Given the description of an element on the screen output the (x, y) to click on. 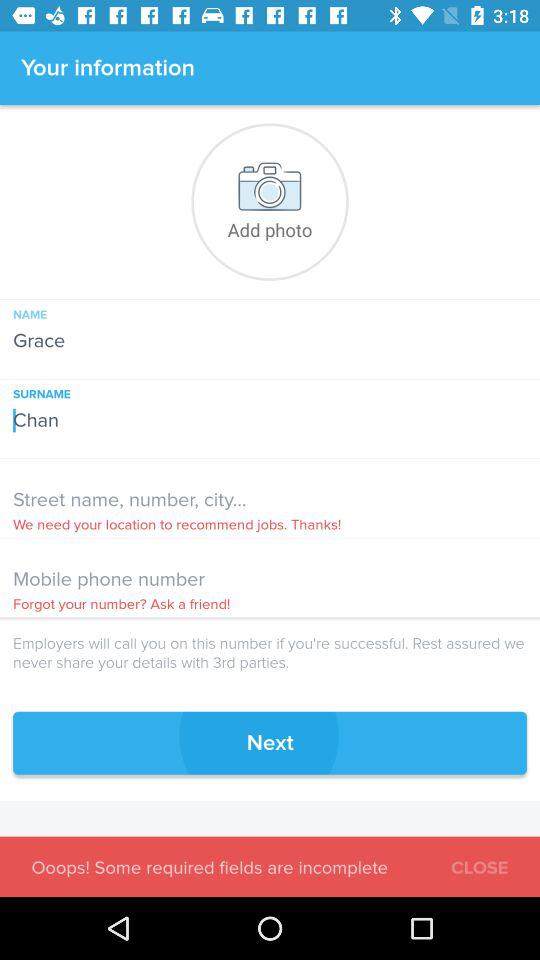
launch item to the right of the ooops some required item (479, 864)
